Given the description of an element on the screen output the (x, y) to click on. 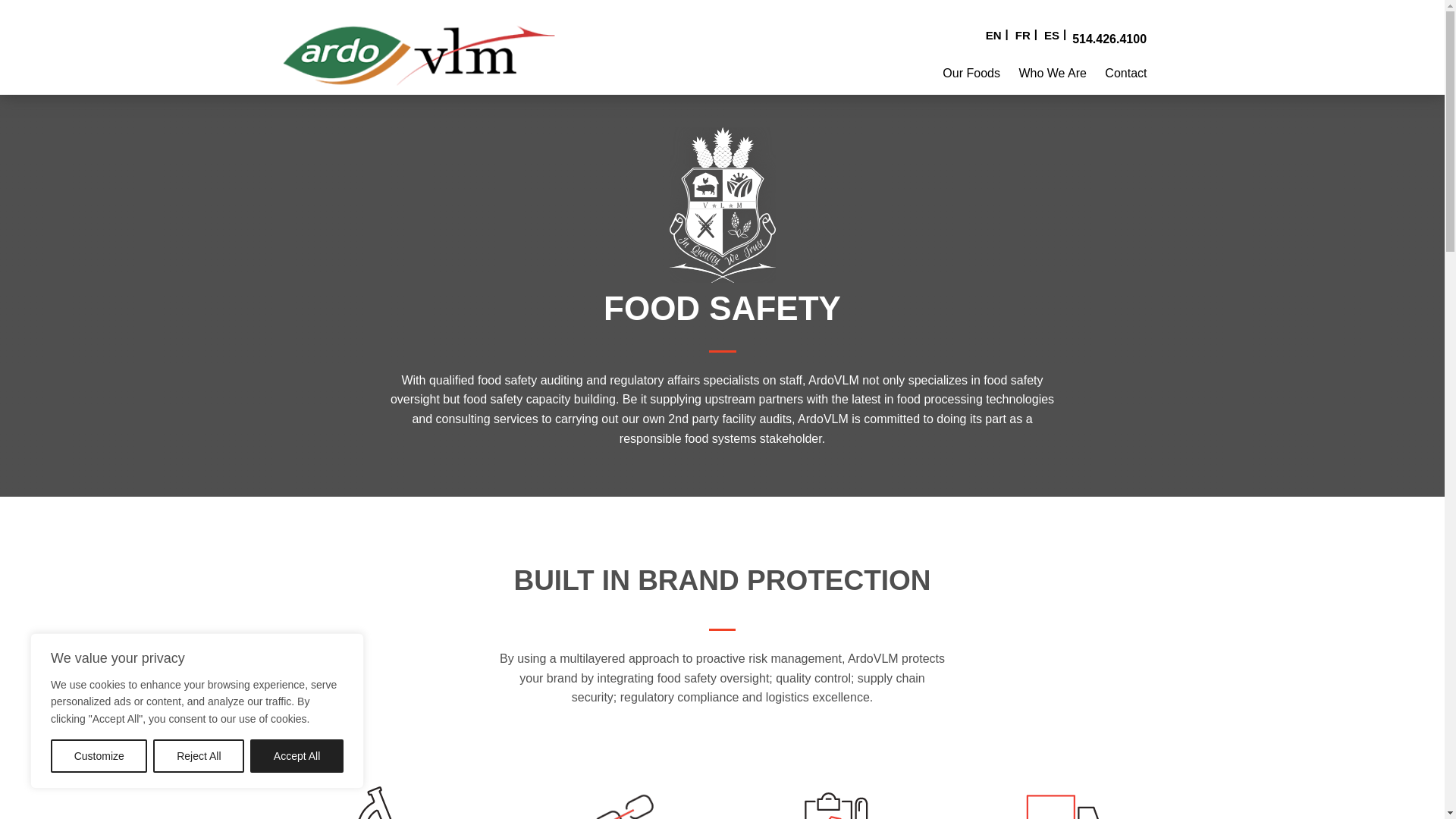
Accept All (296, 756)
ES (1056, 33)
Contact (1126, 72)
514.426.4100 (1109, 38)
Reject All (198, 756)
Who We Are (1051, 72)
FR (1027, 33)
Customize (98, 756)
EN (998, 33)
Our Foods (971, 72)
